Given the description of an element on the screen output the (x, y) to click on. 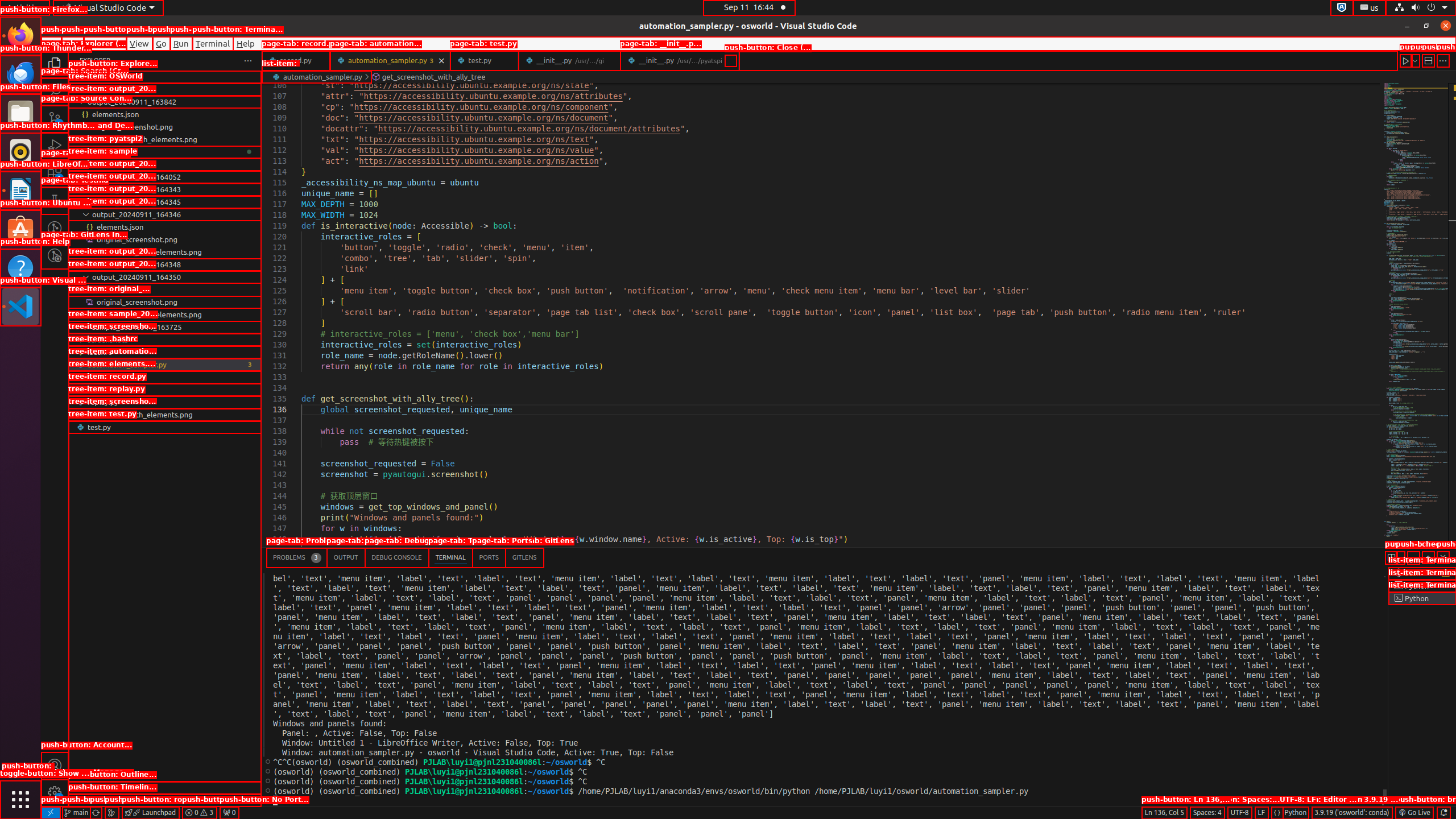
Manage - New Code update available. Element type: push-button (54, 792)
No Ports Forwarded Element type: push-button (228, 812)
Run Python File Element type: push-button (1405, 60)
screenshots Element type: tree-item (164, 339)
Files Explorer Element type: tree (164, 432)
